Given the description of an element on the screen output the (x, y) to click on. 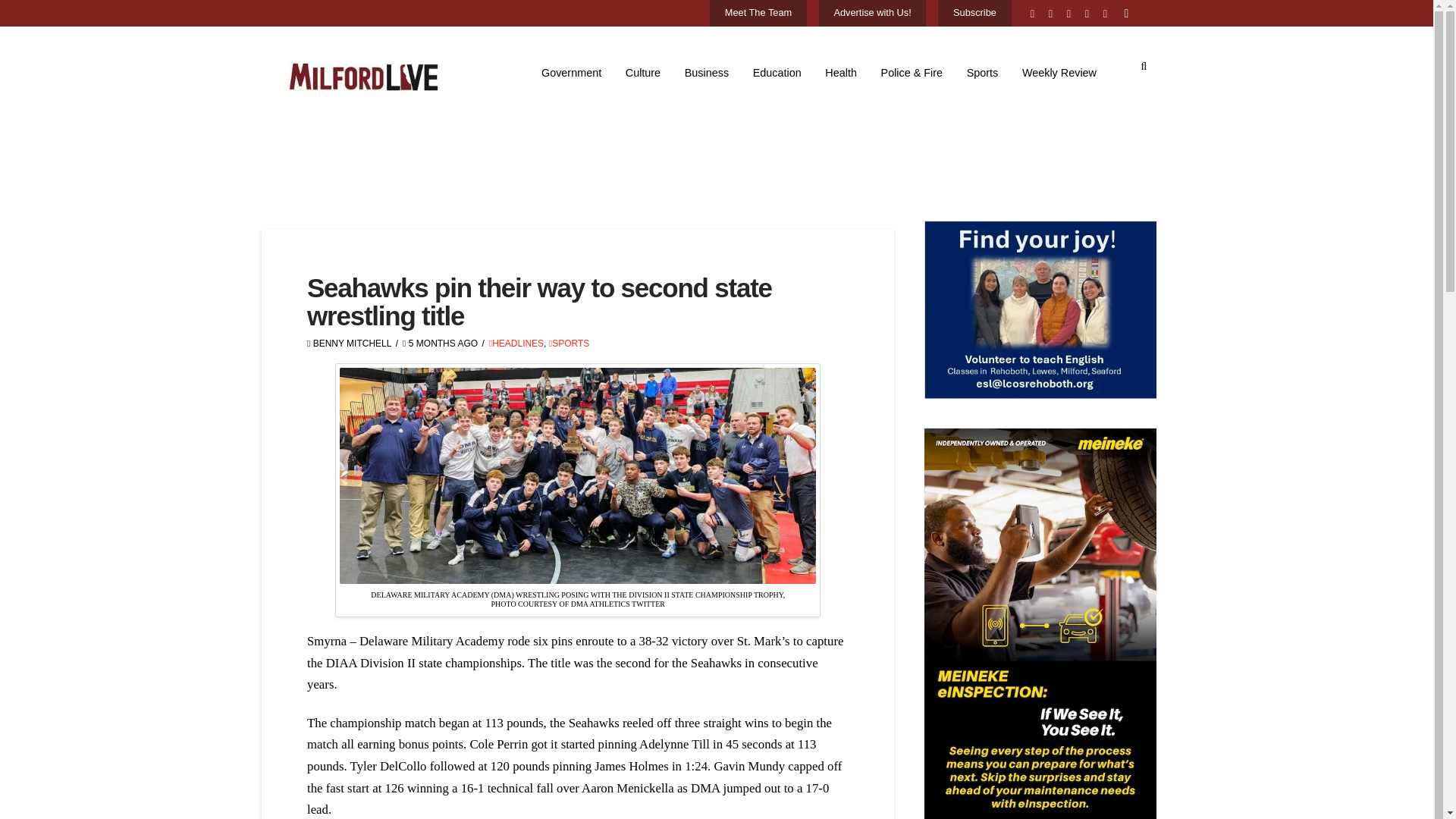
Sports (982, 72)
Meet The Team (758, 14)
Education (777, 72)
Health (841, 72)
Government (570, 72)
Culture (642, 72)
Weekly Review (1059, 72)
Advertise with Us! (872, 14)
SPORTS (568, 343)
Business (706, 72)
Subscribe (973, 14)
HEADLINES (516, 343)
